Given the description of an element on the screen output the (x, y) to click on. 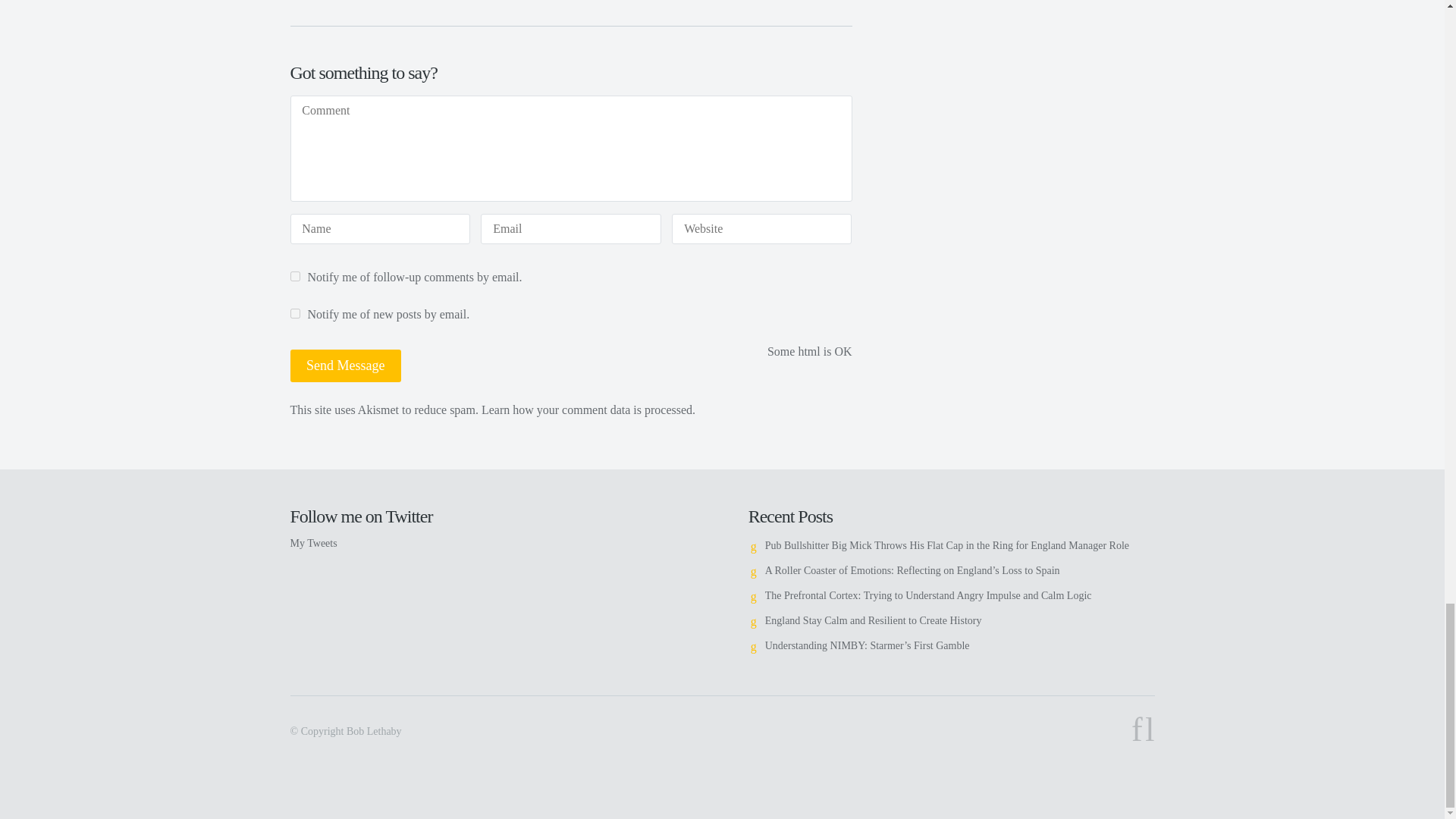
subscribe (294, 276)
My Tweets (312, 542)
England Stay Calm and Resilient to Create History (873, 620)
Learn how your comment data is processed (587, 409)
Send Message (345, 365)
subscribe (294, 313)
Send Message (345, 365)
